Given the description of an element on the screen output the (x, y) to click on. 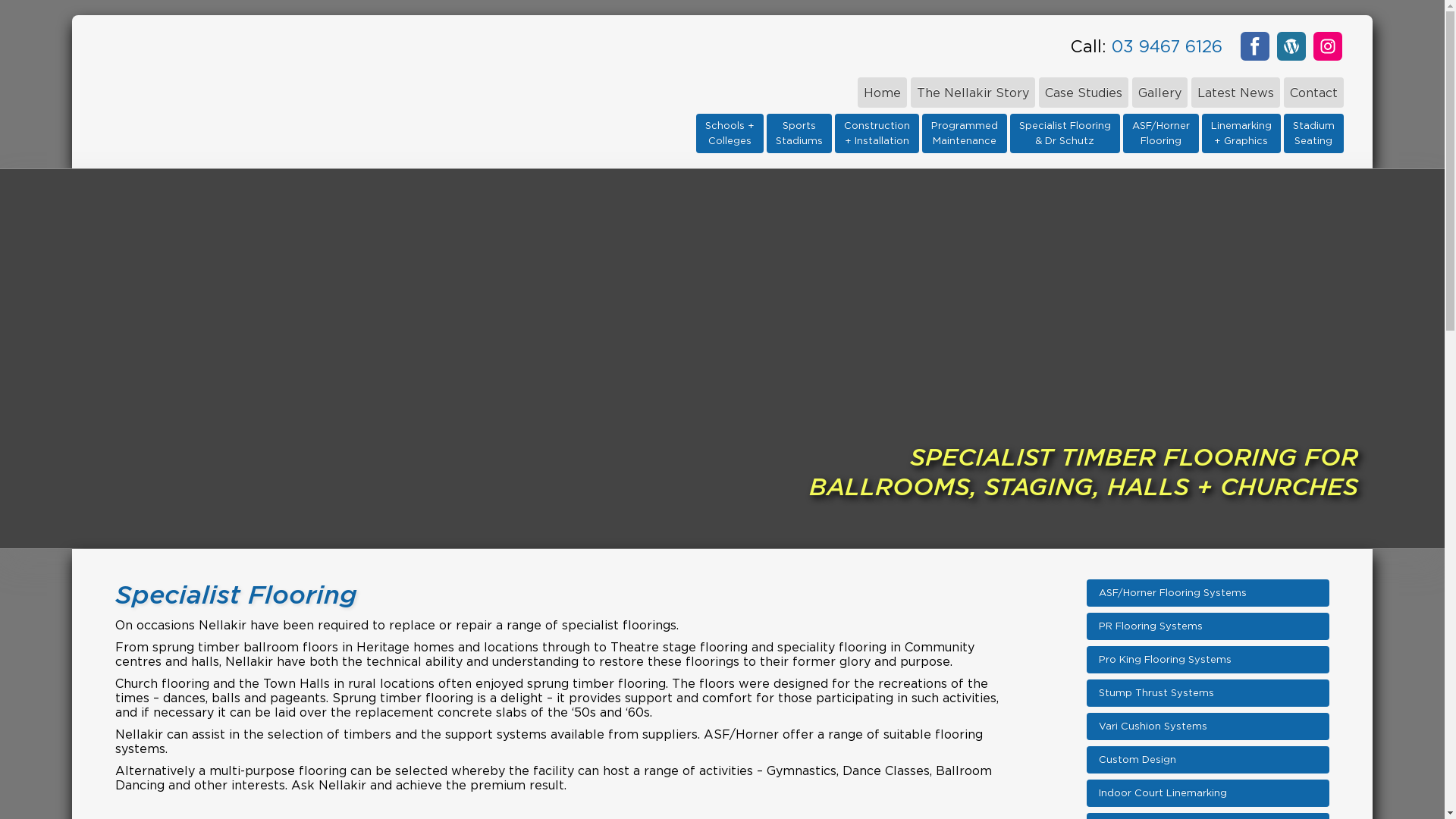
Home Element type: text (881, 92)
Vari Cushion Systems Element type: text (1207, 726)
Nellakir Sports Floors on Facebook Element type: hover (1254, 46)
The Nellakir Story Element type: text (972, 92)
Construction
+ Installation Element type: text (876, 133)
ASF/Horner Flooring Systems Element type: text (1207, 592)
Gallery Element type: text (1159, 92)
Pro King Flooring Systems Element type: text (1207, 659)
Nellakir Sports Floors Latest News Blog Element type: hover (1291, 46)
Contact Element type: text (1313, 92)
Schools +
Colleges Element type: text (729, 133)
Nellakir Sports Floors on Instagram Element type: hover (1327, 46)
Specialist Flooring
& Dr Schutz Element type: text (1065, 133)
Sports
Stadiums Element type: text (798, 133)
Sports Floors by Nellakir Element type: hover (348, 90)
Programmed
Maintenance Element type: text (964, 133)
ASF/Horner
Flooring Element type: text (1160, 133)
03 9467 6126 Element type: text (1166, 46)
Custom Design Element type: text (1207, 759)
PR Flooring Systems Element type: text (1207, 626)
Linemarking
+ Graphics Element type: text (1240, 133)
Stadium
Seating Element type: text (1313, 133)
Latest News Element type: text (1235, 92)
Stump Thrust Systems Element type: text (1207, 692)
Case Studies Element type: text (1083, 92)
Indoor Court Linemarking Element type: text (1207, 792)
